Given the description of an element on the screen output the (x, y) to click on. 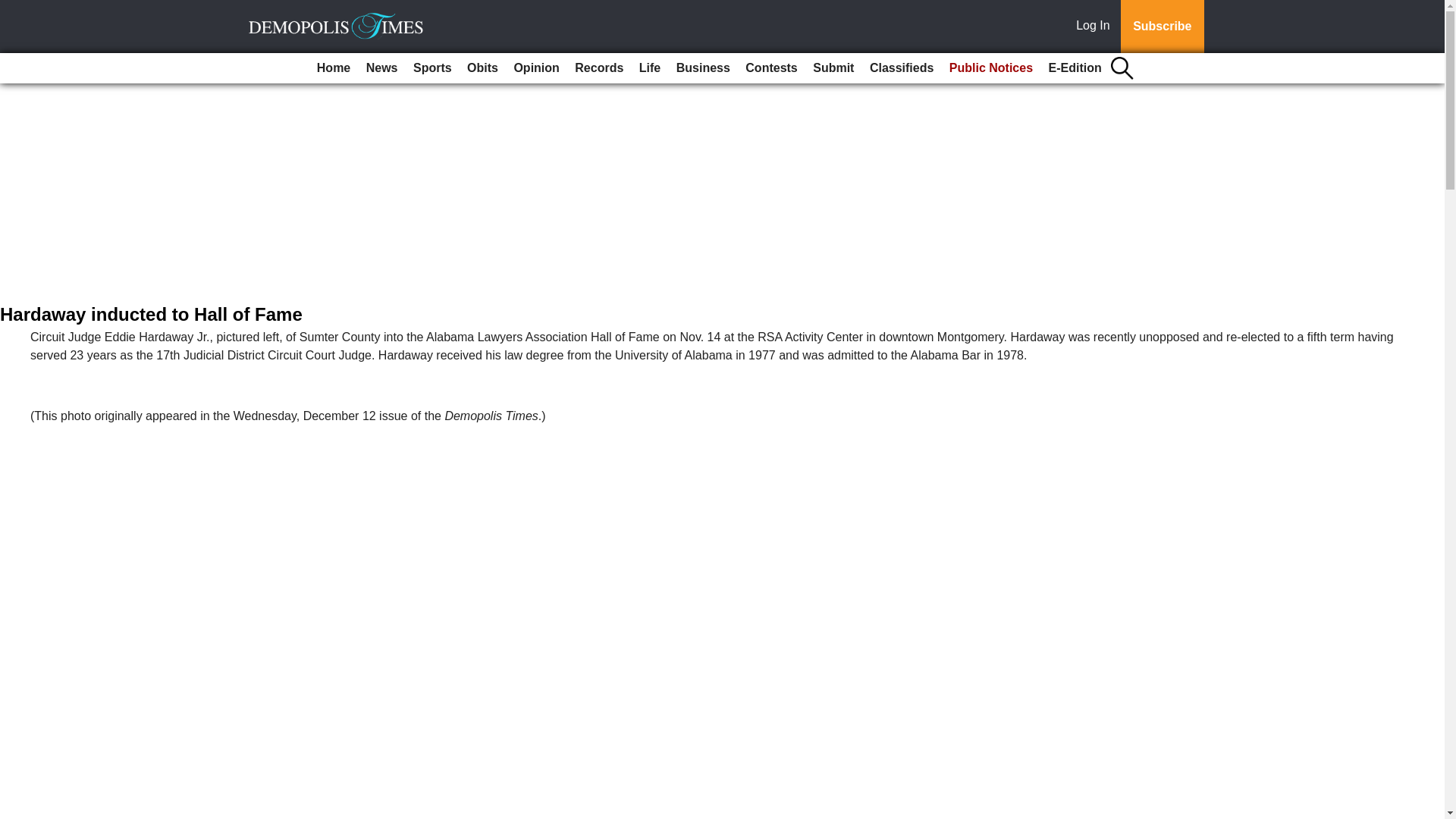
Subscribe (1162, 26)
Contests (771, 68)
Log In (1095, 26)
Go (13, 9)
E-Edition (1075, 68)
News (381, 68)
Sports (432, 68)
Submit (833, 68)
Home (333, 68)
Public Notices (991, 68)
Records (598, 68)
Life (649, 68)
Business (702, 68)
Classifieds (901, 68)
Opinion (535, 68)
